Given the description of an element on the screen output the (x, y) to click on. 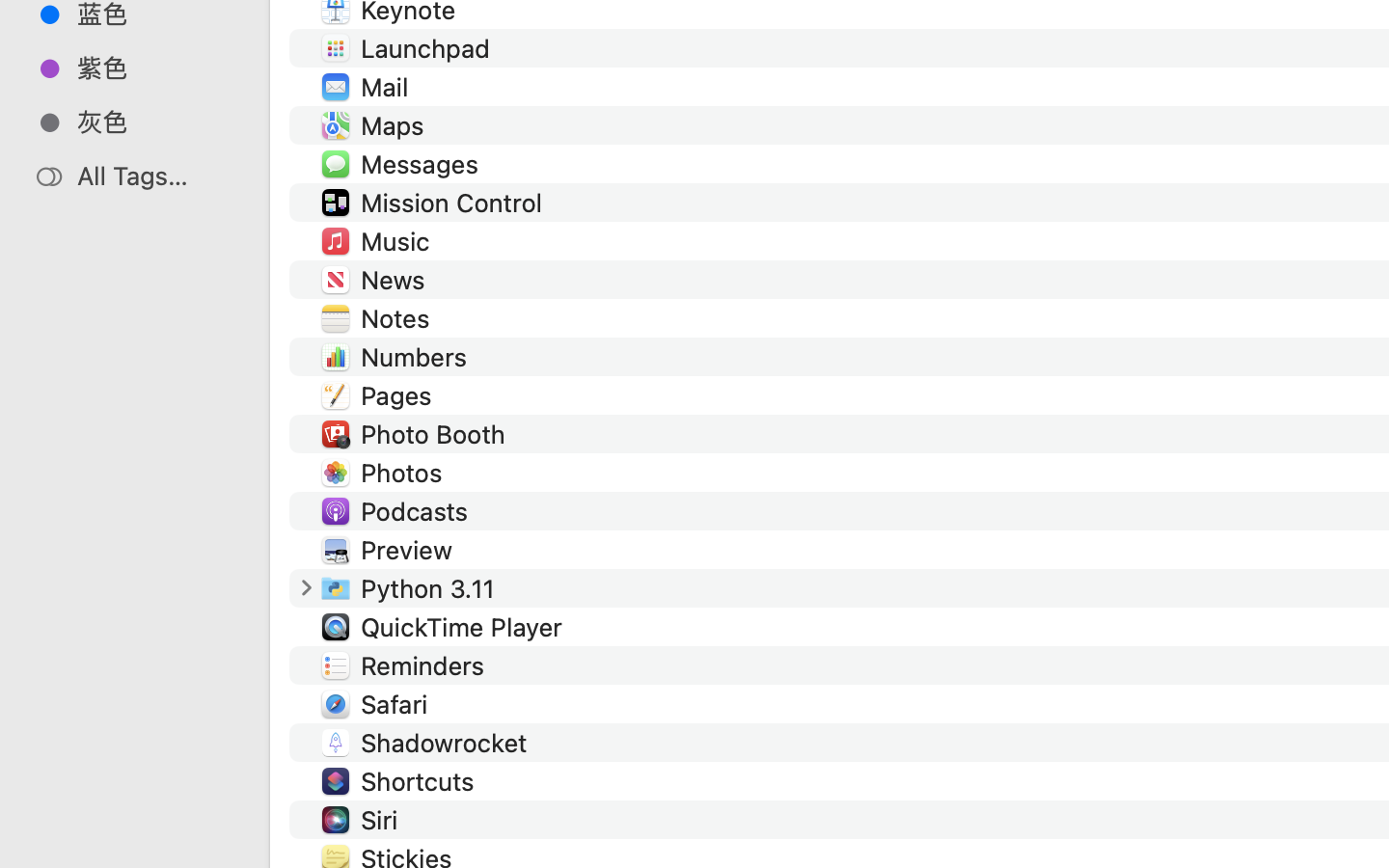
Pages Element type: AXTextField (399, 394)
Maps Element type: AXTextField (395, 124)
Photos Element type: AXTextField (405, 472)
Messages Element type: AXTextField (423, 163)
Safari Element type: AXTextField (397, 703)
